Given the description of an element on the screen output the (x, y) to click on. 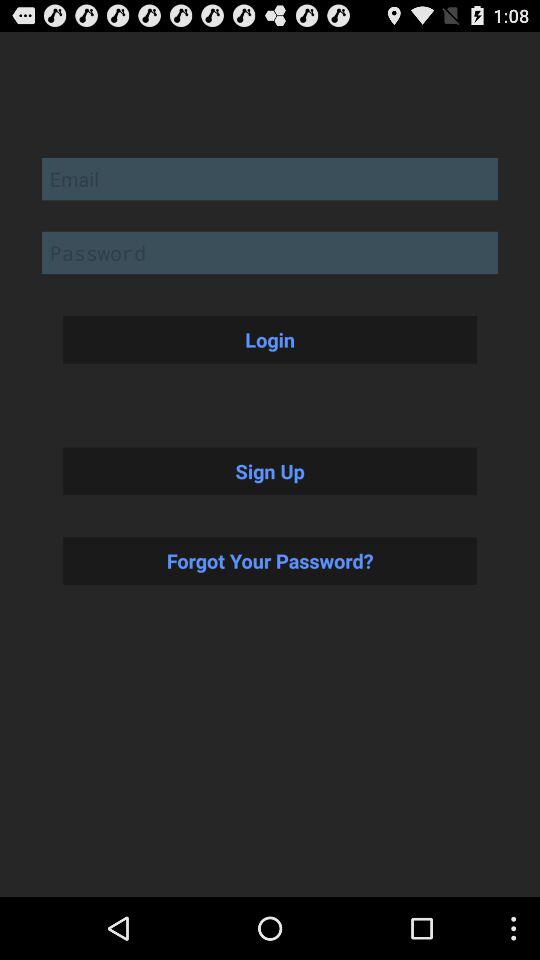
enter password (270, 252)
